Given the description of an element on the screen output the (x, y) to click on. 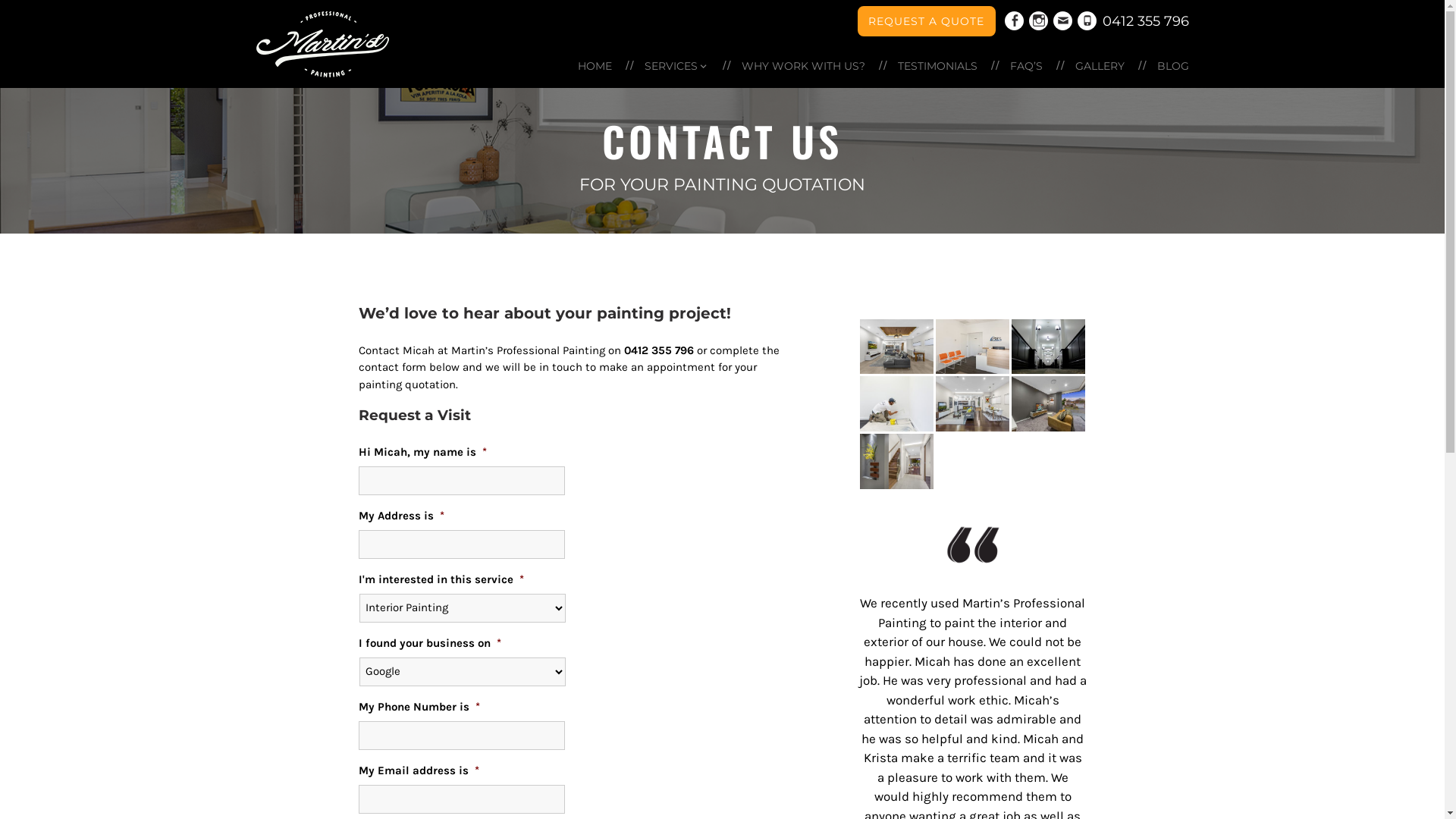
Return to homepage Element type: hover (322, 46)
GALLERY Element type: text (1099, 65)
TESTIMONIALS Element type: text (937, 65)
WHY WORK WITH US? Element type: text (803, 65)
REQUEST A QUOTE Element type: text (926, 21)
HOME Element type: text (594, 65)
BLOG Element type: text (1167, 65)
SERVICES Element type: text (676, 65)
0412 355 796 Element type: text (1145, 20)
